Given the description of an element on the screen output the (x, y) to click on. 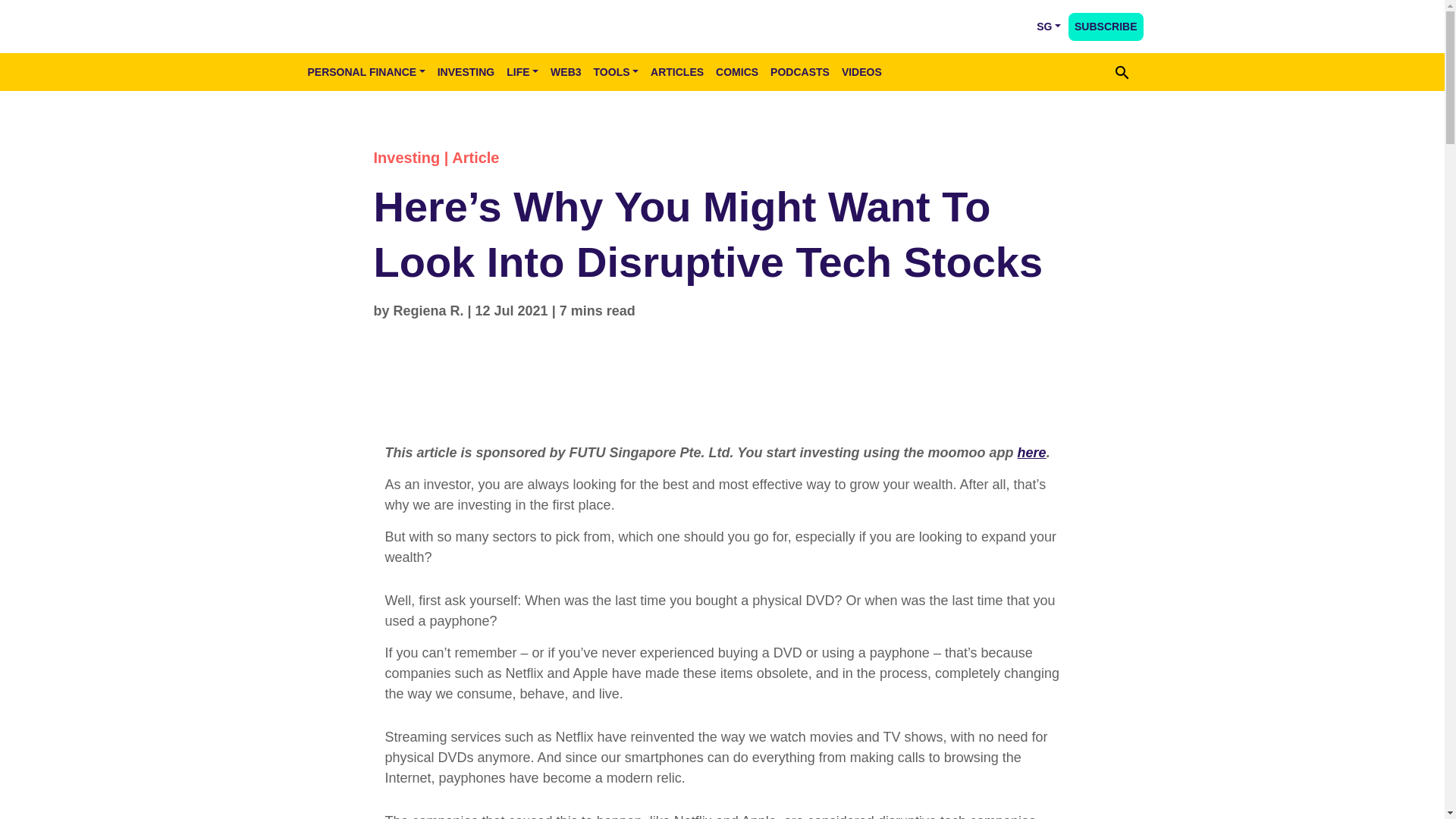
PERSONAL FINANCE (365, 71)
SUBSCRIBE (1105, 26)
SUBSCRIBE (1105, 26)
